Given the description of an element on the screen output the (x, y) to click on. 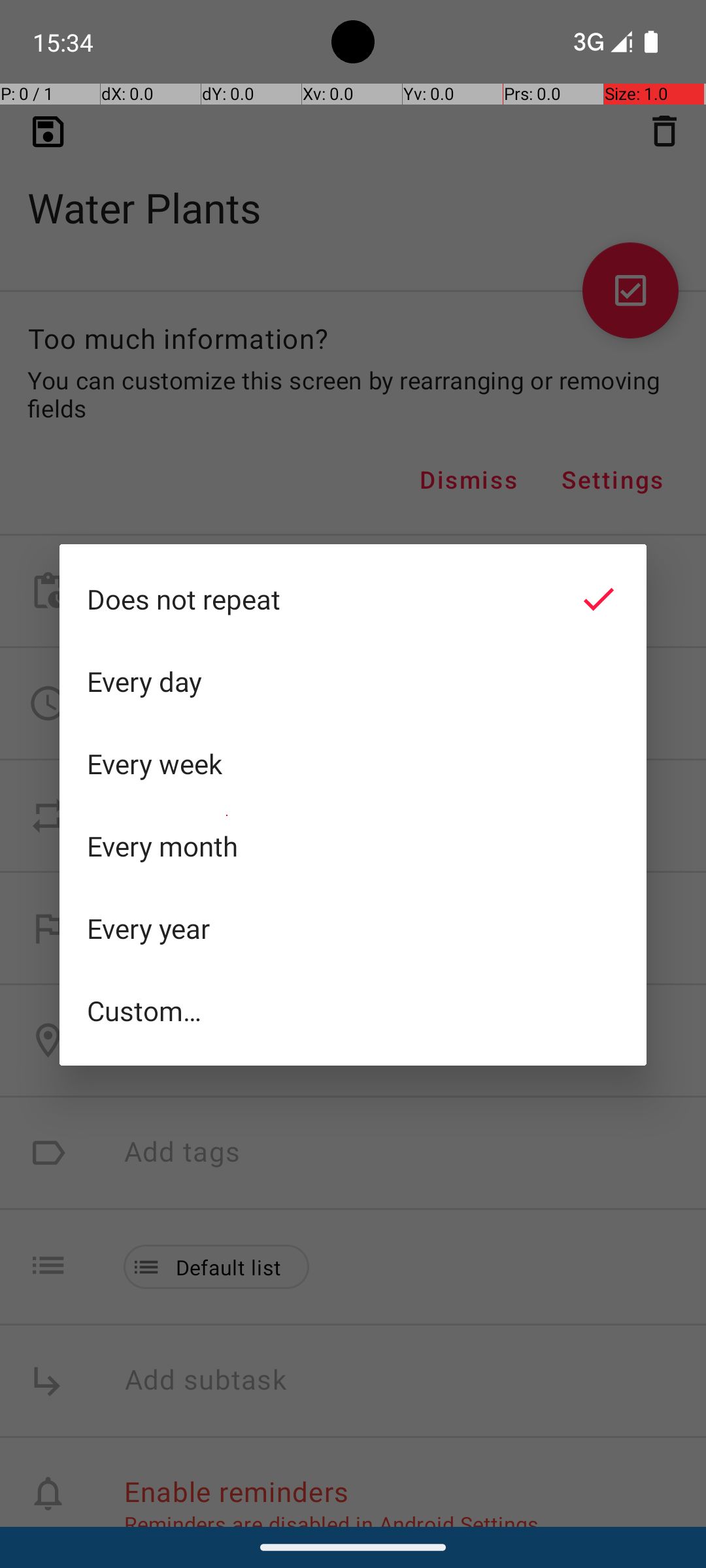
Every day Element type: android.widget.CheckedTextView (352, 681)
Every week Element type: android.widget.CheckedTextView (352, 763)
Every month Element type: android.widget.CheckedTextView (352, 845)
Every year Element type: android.widget.CheckedTextView (352, 928)
Custom… Element type: android.widget.CheckedTextView (352, 1010)
